Given the description of an element on the screen output the (x, y) to click on. 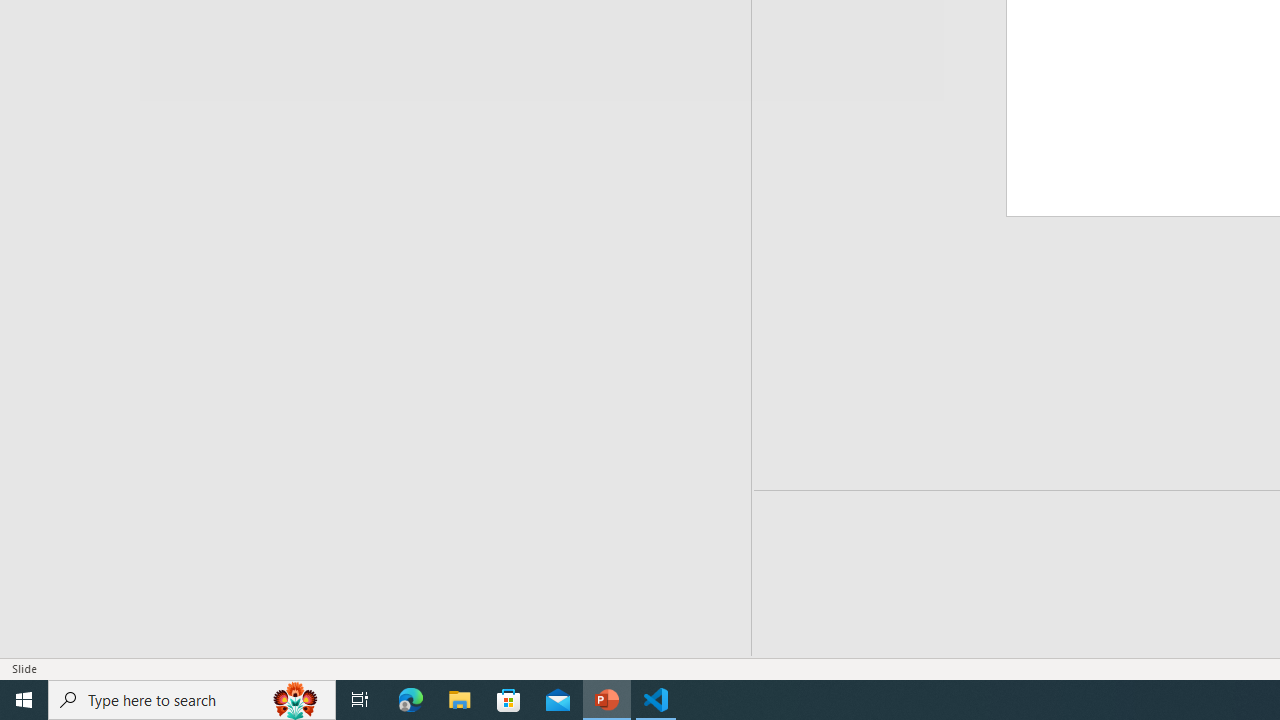
Microsoft Edge (411, 699)
